Given the description of an element on the screen output the (x, y) to click on. 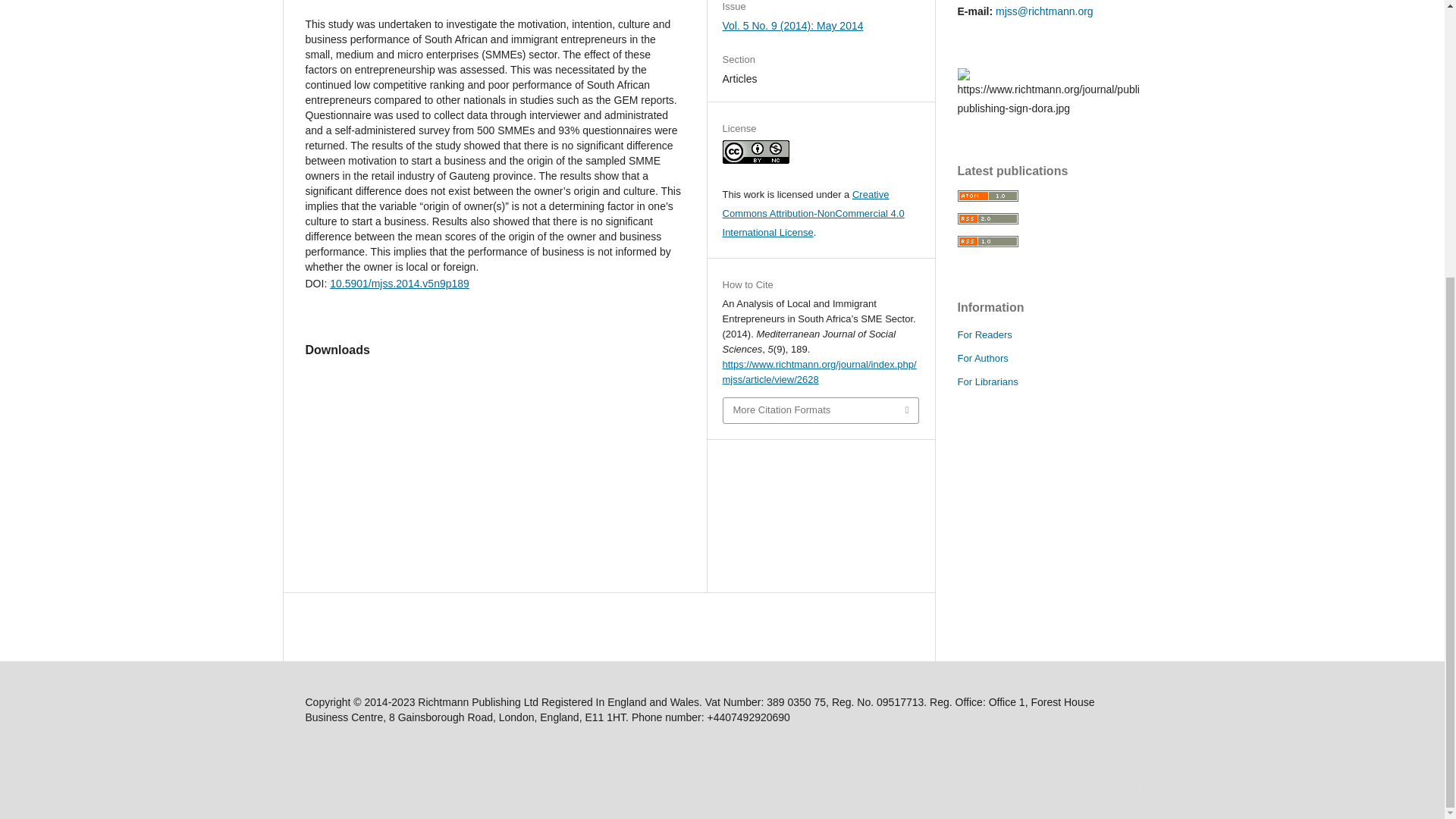
More Citation Formats (820, 410)
